Given the description of an element on the screen output the (x, y) to click on. 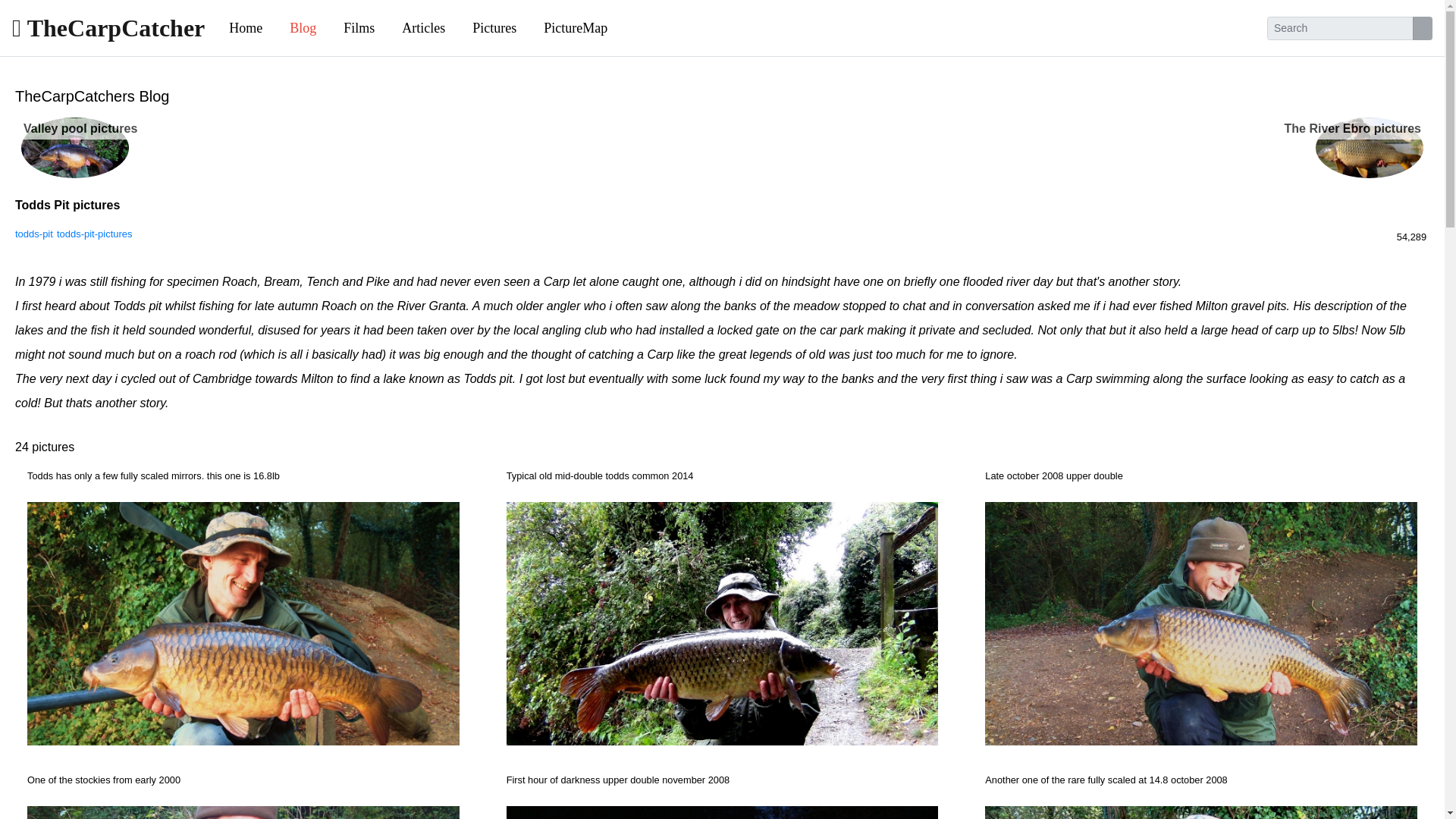
Home (245, 28)
Pictures (494, 28)
Articles (423, 28)
PictureMap (575, 28)
View all posts for todds-pit-pictures (94, 233)
todds-pit (33, 233)
Everything in pictures! (575, 28)
View all posts for todds-pit (33, 233)
Films (359, 28)
Wotcha! (108, 27)
todds-pit-pictures (94, 233)
Articles, longer posts (423, 28)
Home page (245, 28)
Since march 2014 (1409, 236)
Blog (303, 28)
